Given the description of an element on the screen output the (x, y) to click on. 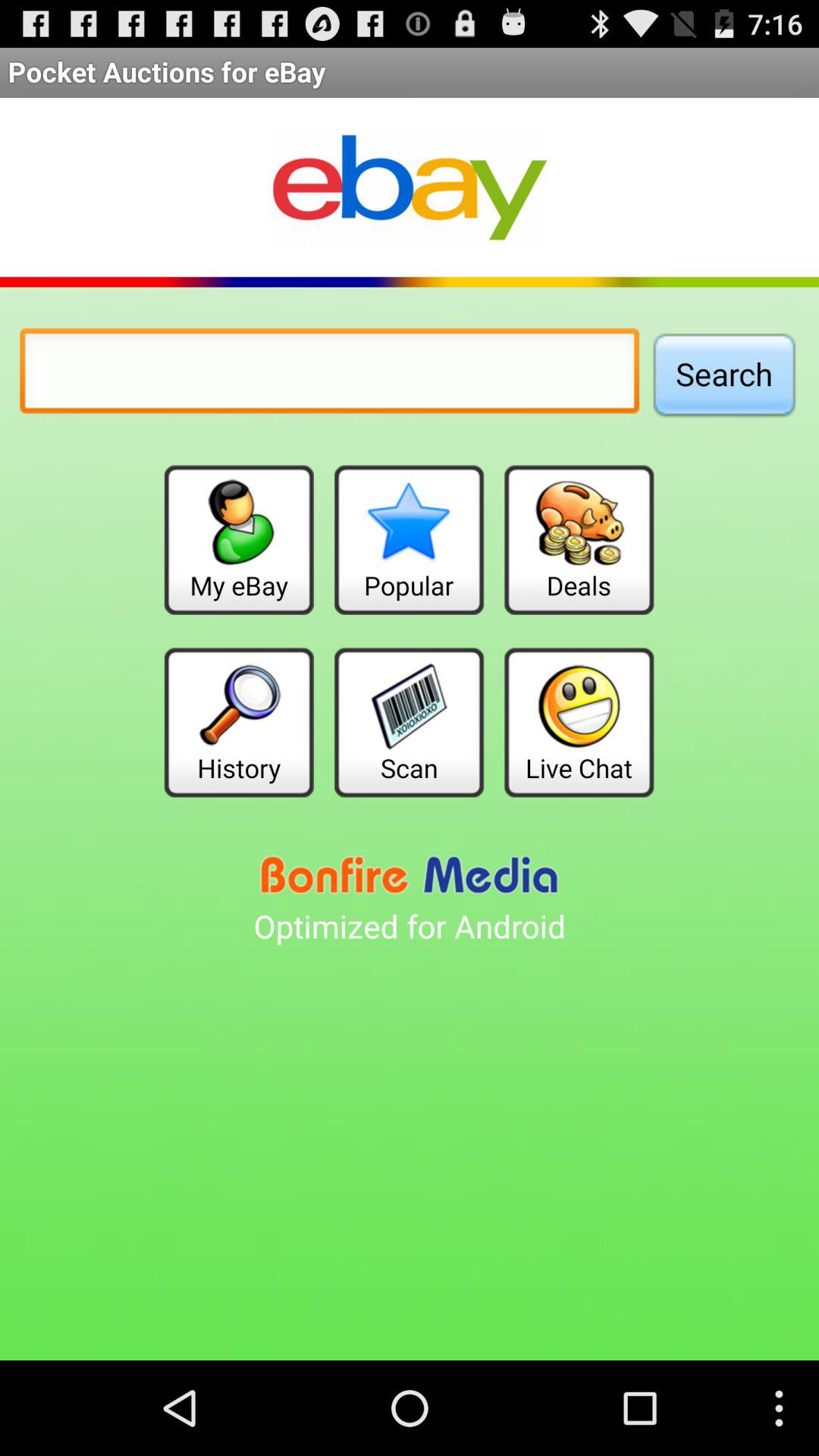
click item below the my ebay (238, 722)
